Given the description of an element on the screen output the (x, y) to click on. 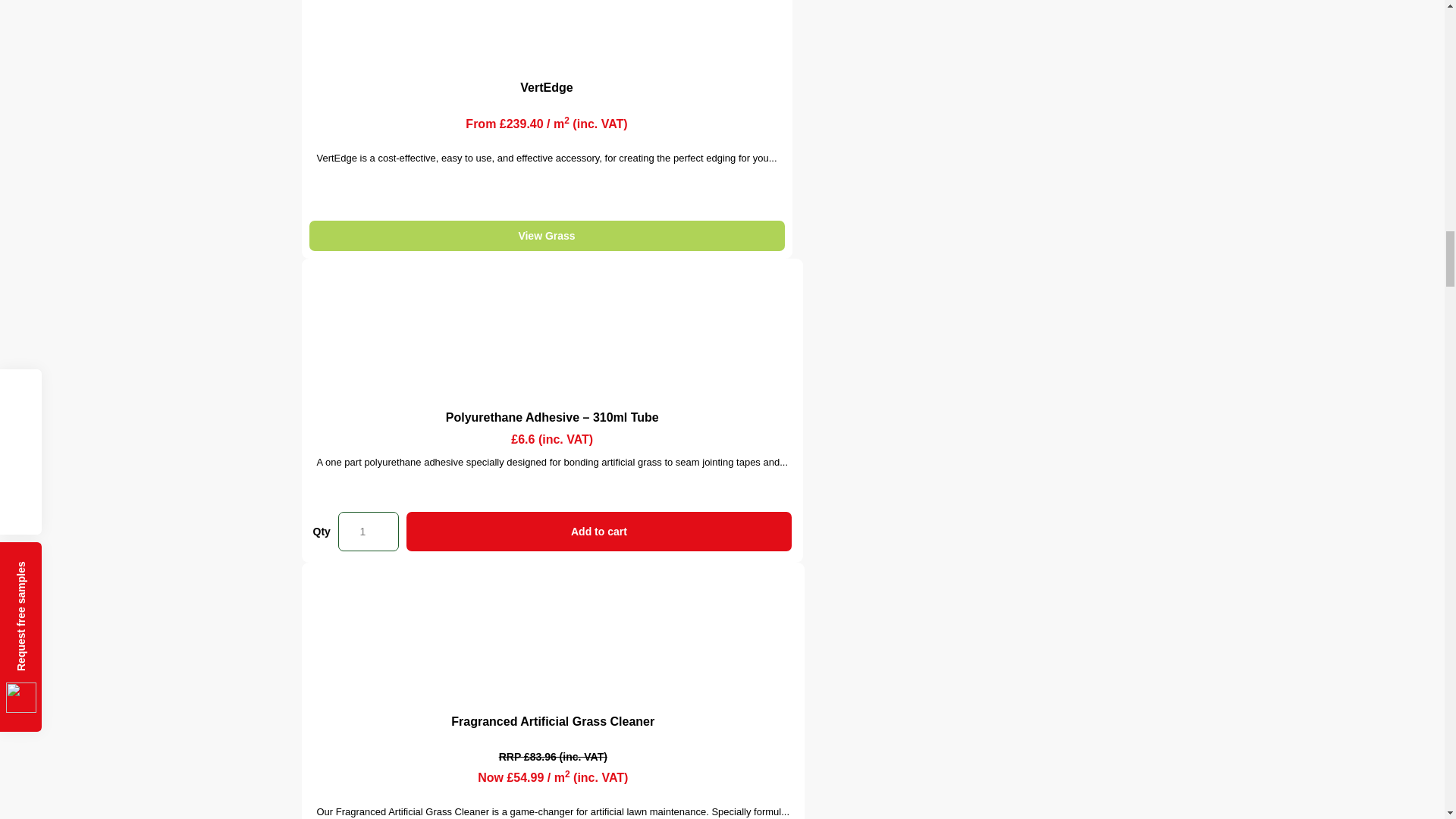
1 (367, 531)
